Given the description of an element on the screen output the (x, y) to click on. 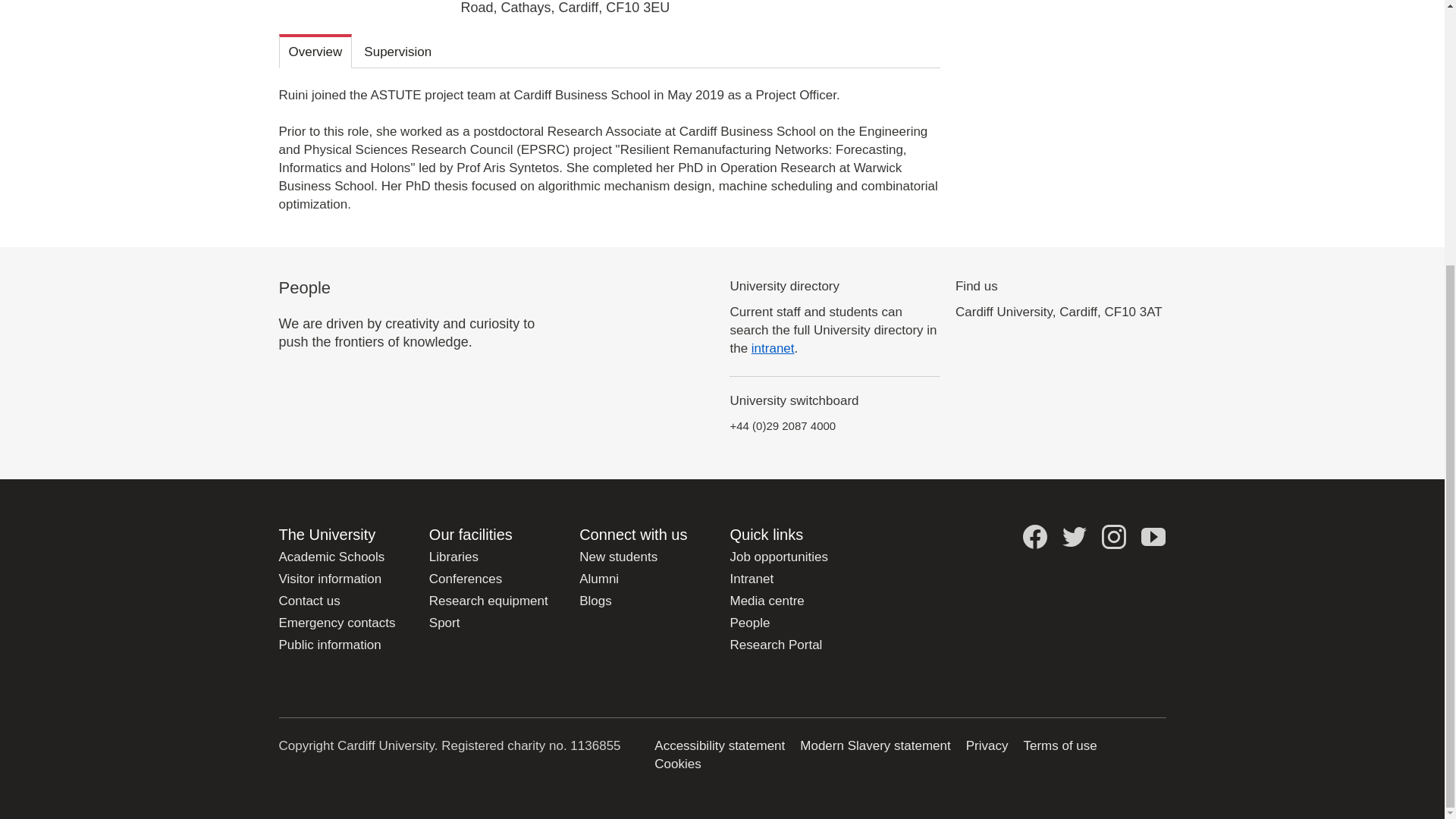
Youtube (1153, 536)
instagram (1113, 536)
facebook (1034, 536)
twitter no background icon (1074, 536)
